Given the description of an element on the screen output the (x, y) to click on. 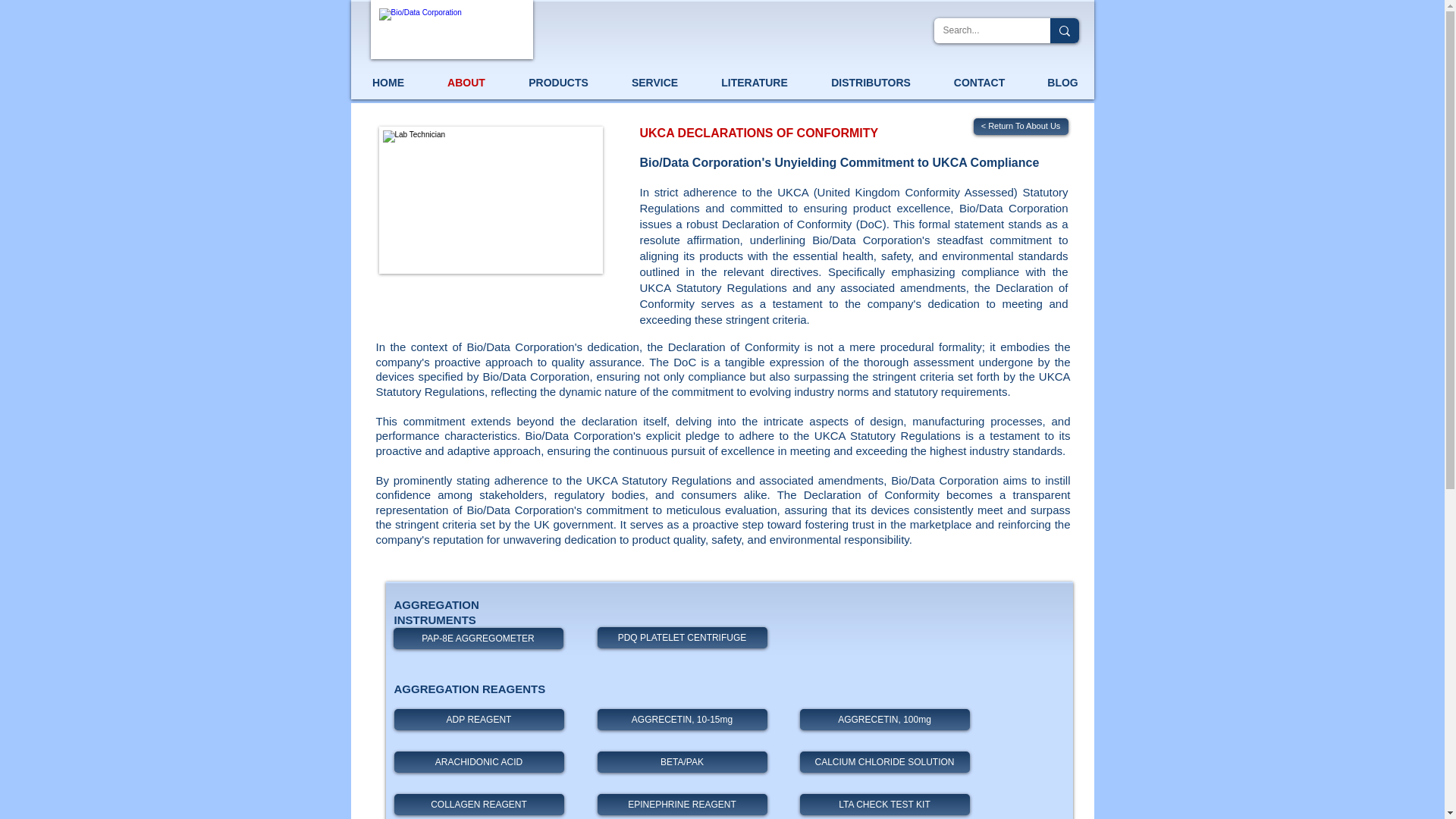
DISTRIBUTORS (871, 82)
SERVICE (654, 82)
HOME (387, 82)
ABOUT (466, 82)
PRODUCTS (558, 82)
LITERATURE (753, 82)
